Given the description of an element on the screen output the (x, y) to click on. 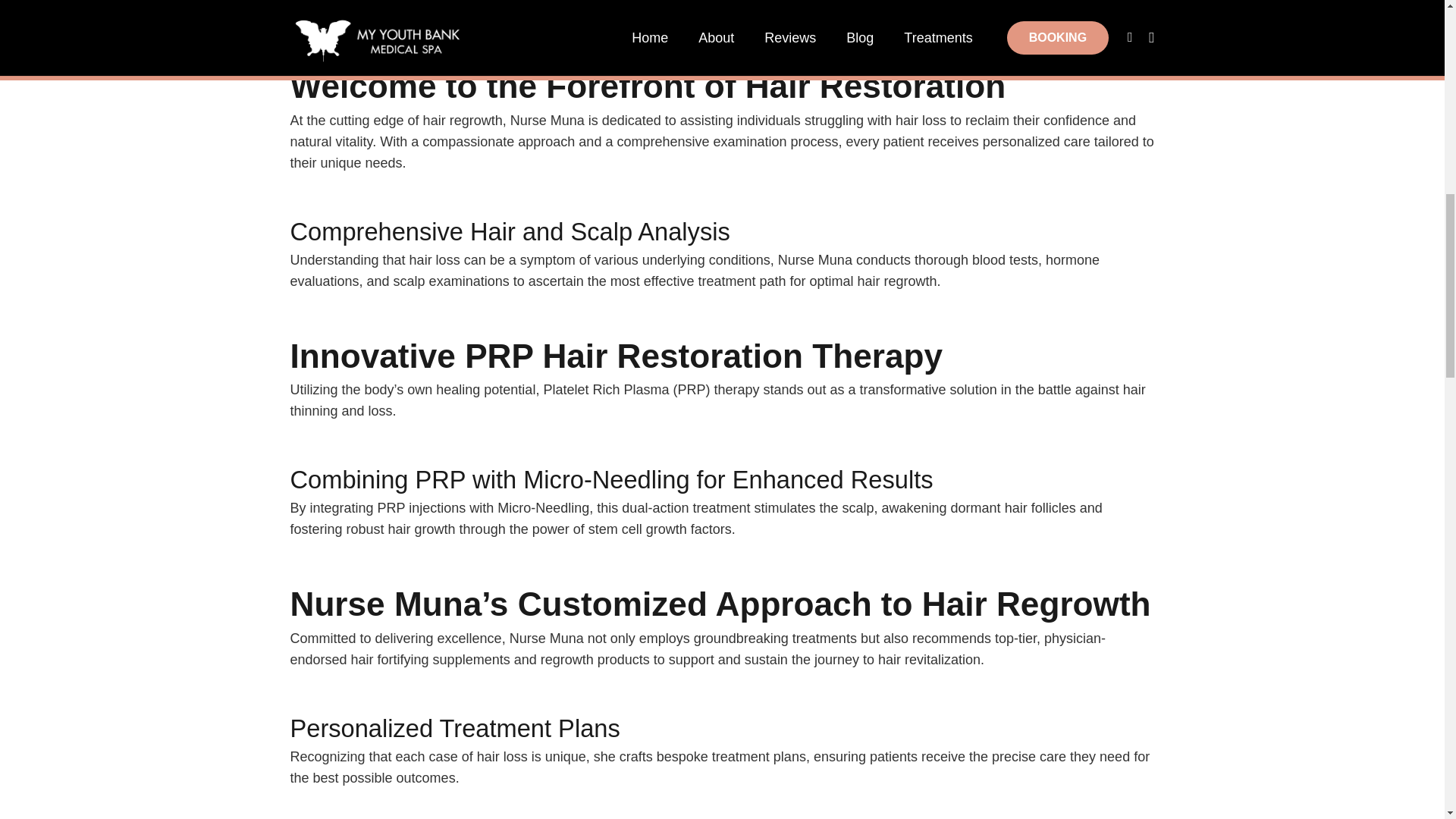
Back to top (1413, 37)
